Given the description of an element on the screen output the (x, y) to click on. 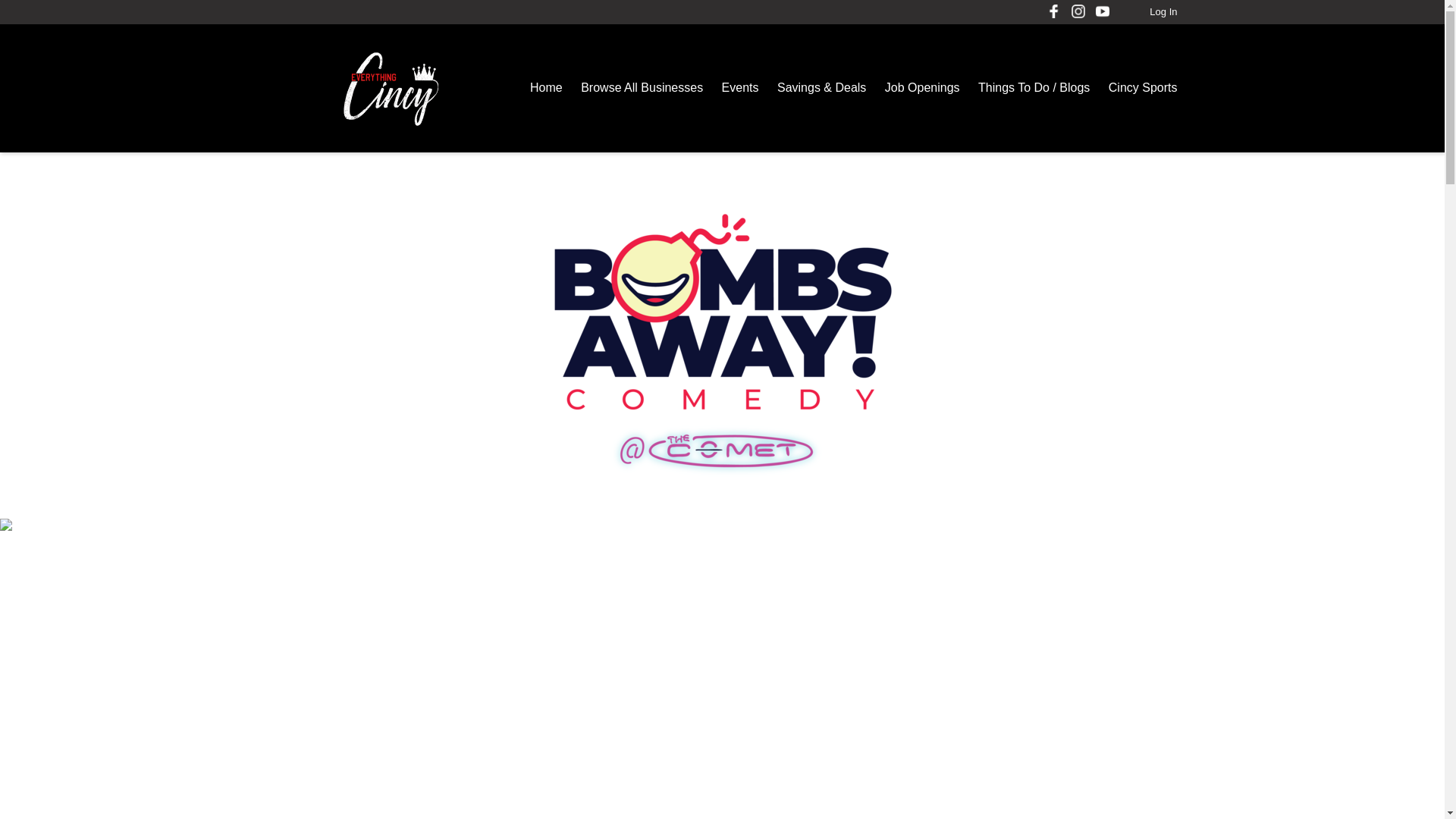
Log In (1163, 11)
Cincy Sports (1142, 87)
Home (545, 87)
Events (740, 87)
Browse All Businesses (641, 87)
Job Openings (922, 87)
